Given the description of an element on the screen output the (x, y) to click on. 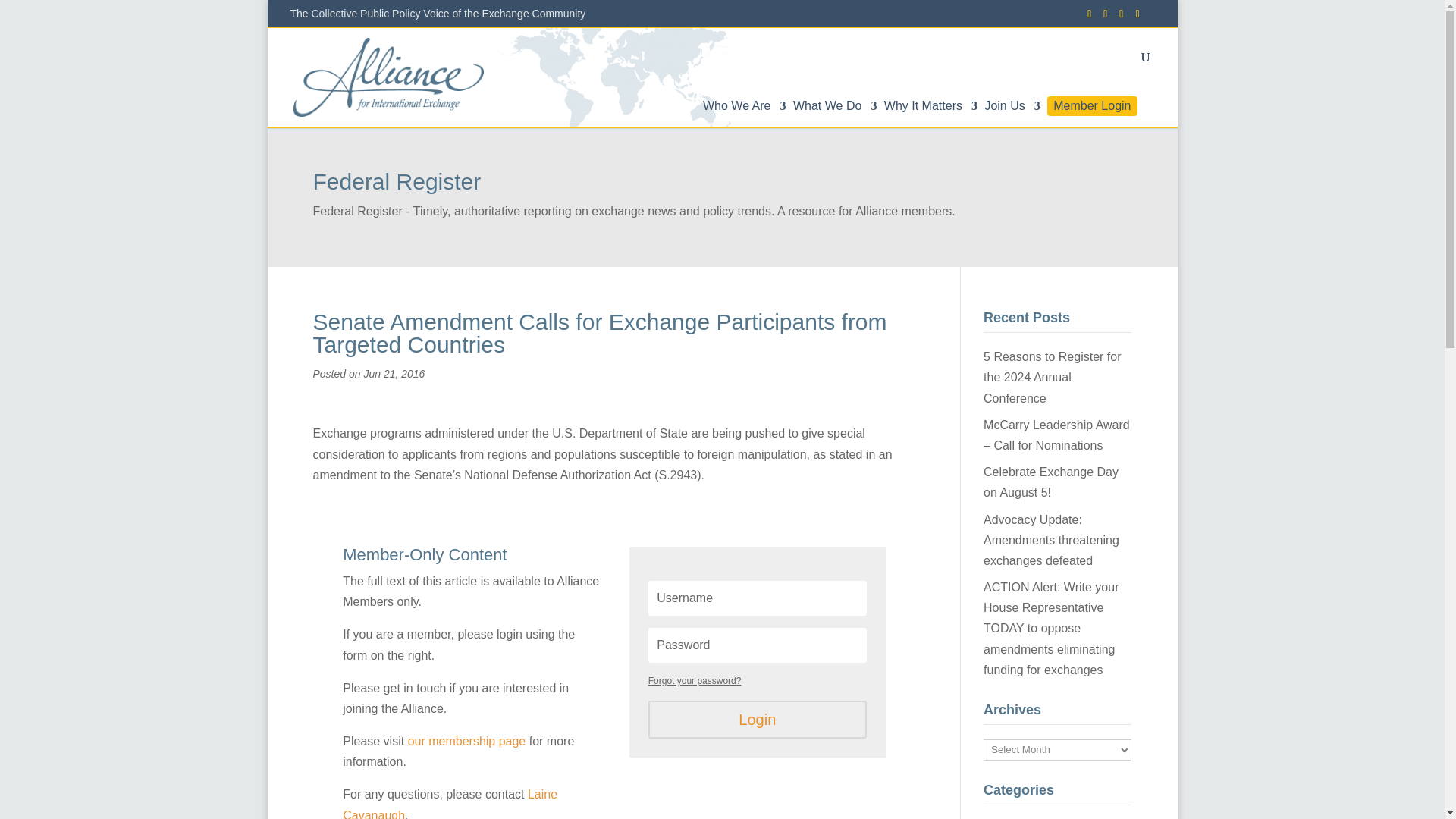
Who We Are (744, 113)
What We Do (834, 113)
Why It Matters (929, 113)
